Given the description of an element on the screen output the (x, y) to click on. 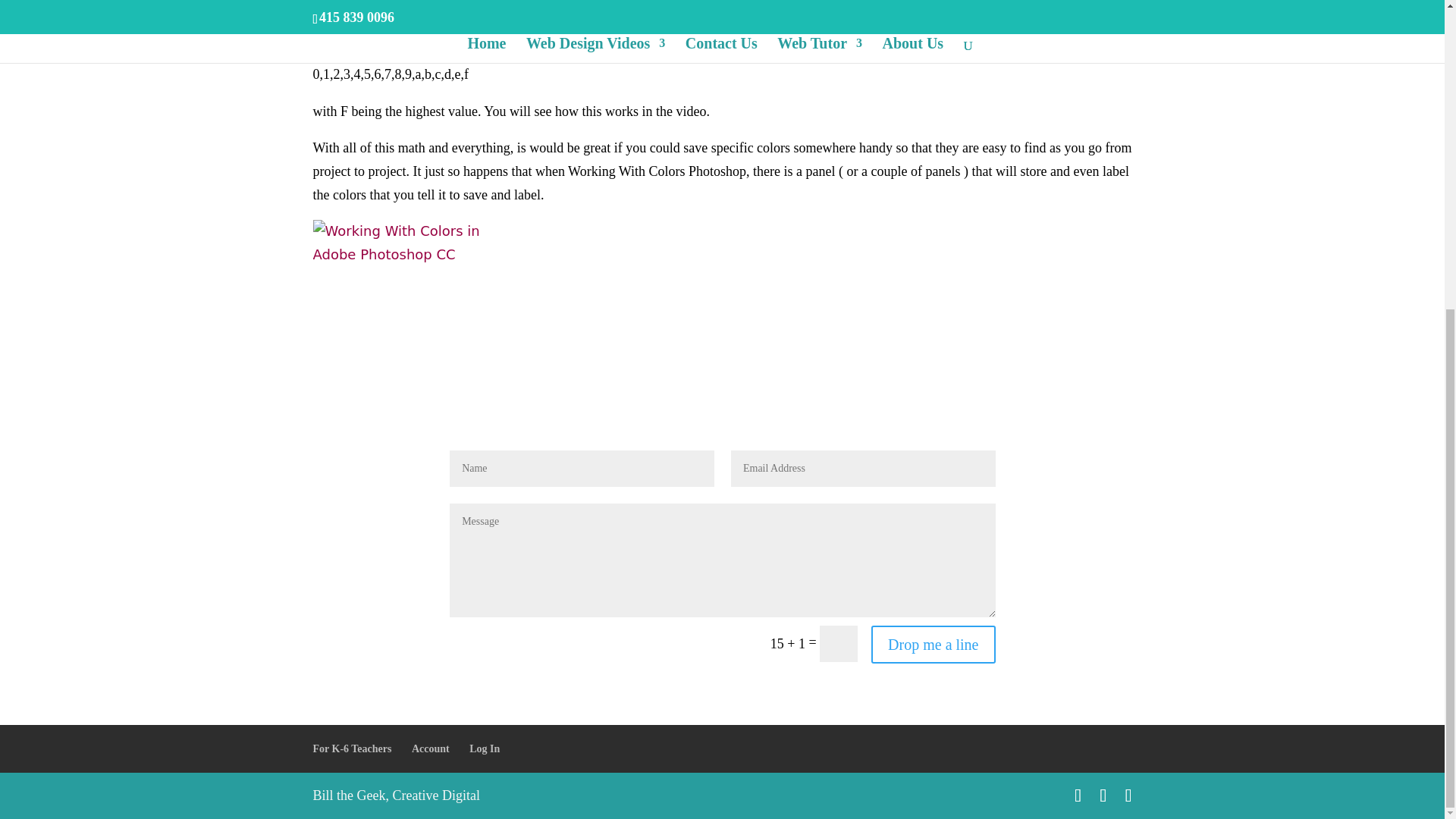
Log In (483, 748)
For K-6 Teachers (352, 748)
Drop me a line (932, 644)
Account (430, 748)
